Given the description of an element on the screen output the (x, y) to click on. 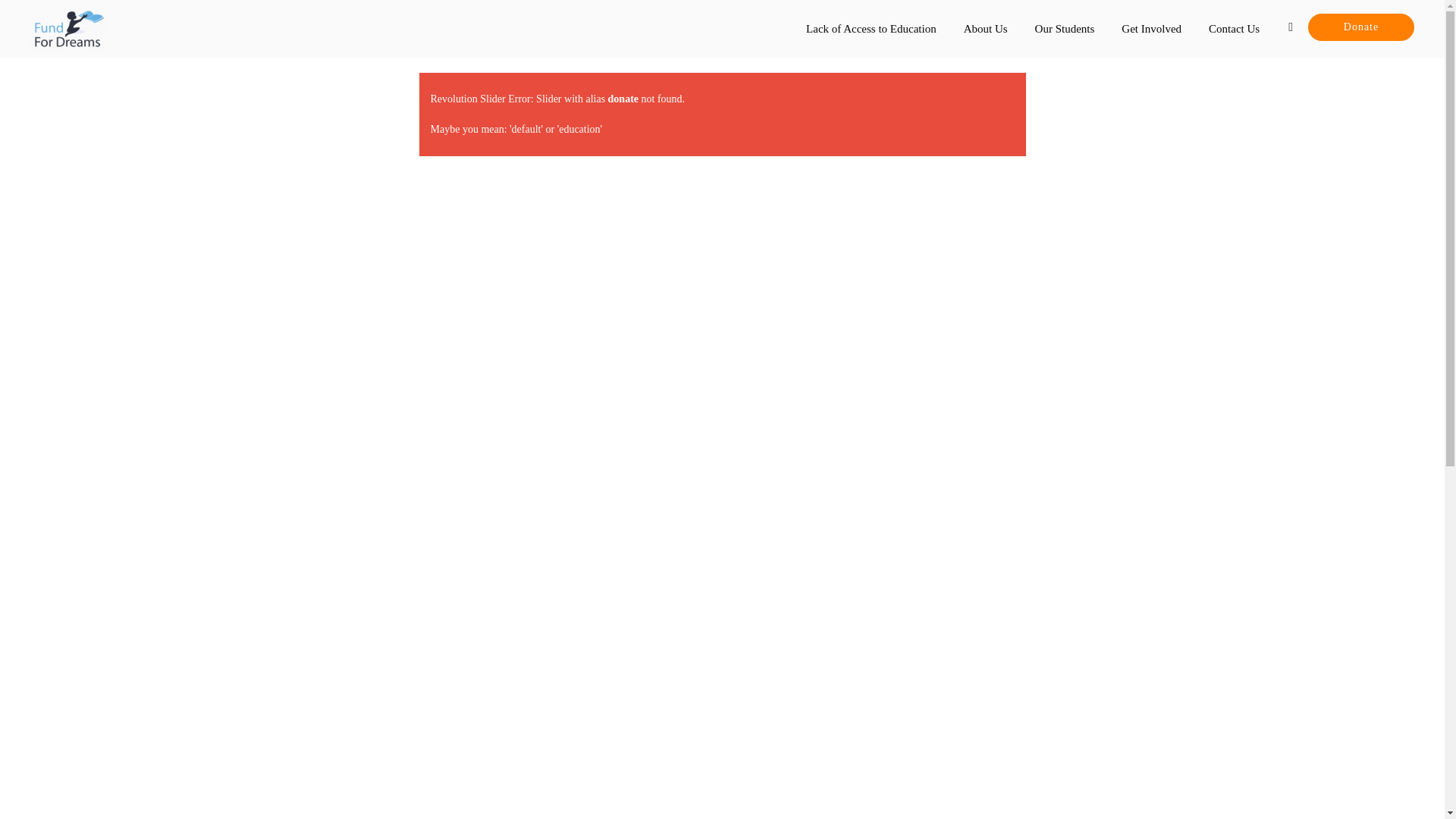
About Us (986, 28)
Contact Us (1233, 28)
Our Students (1065, 28)
Get Involved (1151, 28)
Lack of Access to Education (871, 28)
Donate (1360, 27)
